Given the description of an element on the screen output the (x, y) to click on. 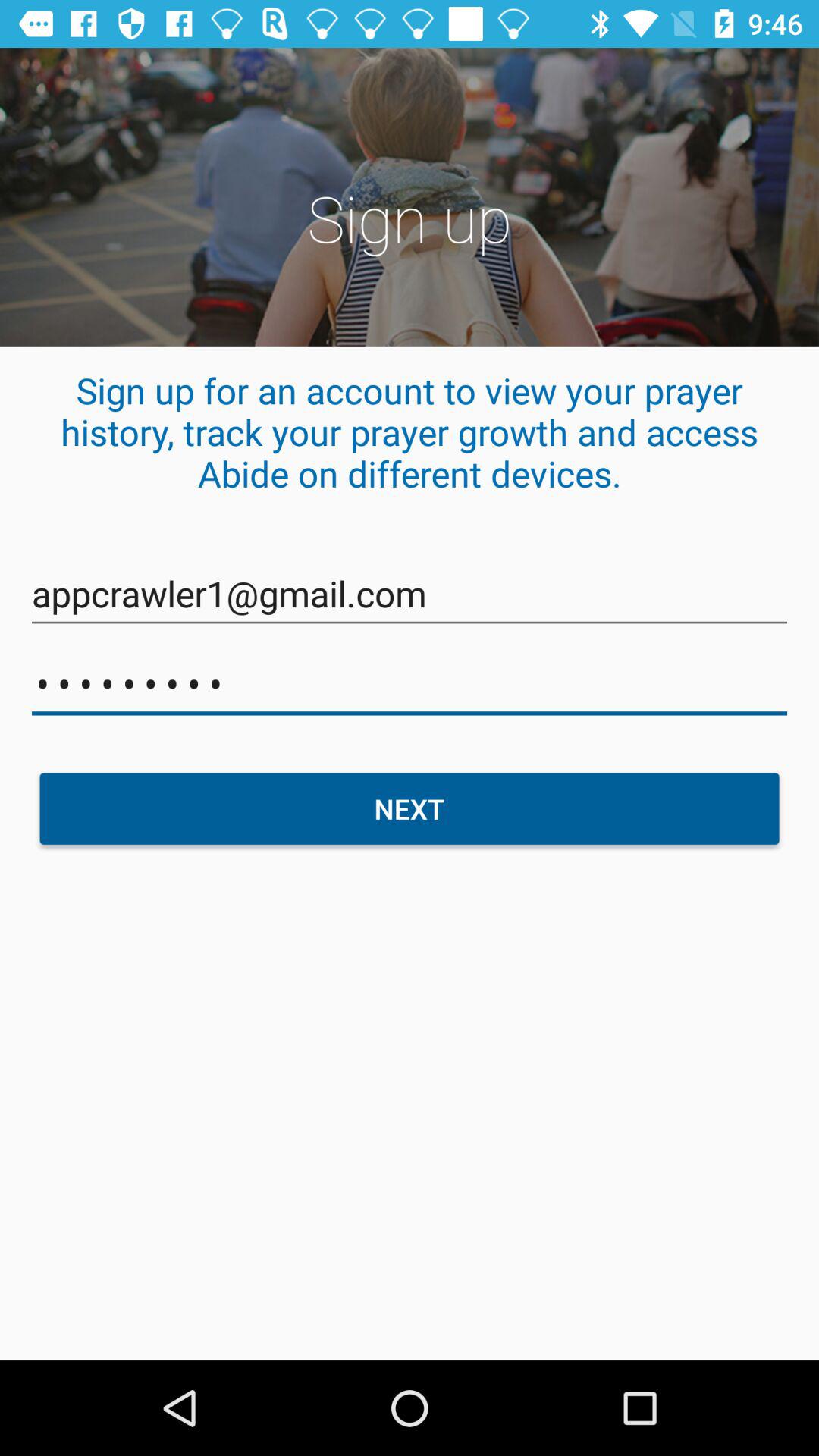
turn off item below sign up for icon (409, 594)
